Given the description of an element on the screen output the (x, y) to click on. 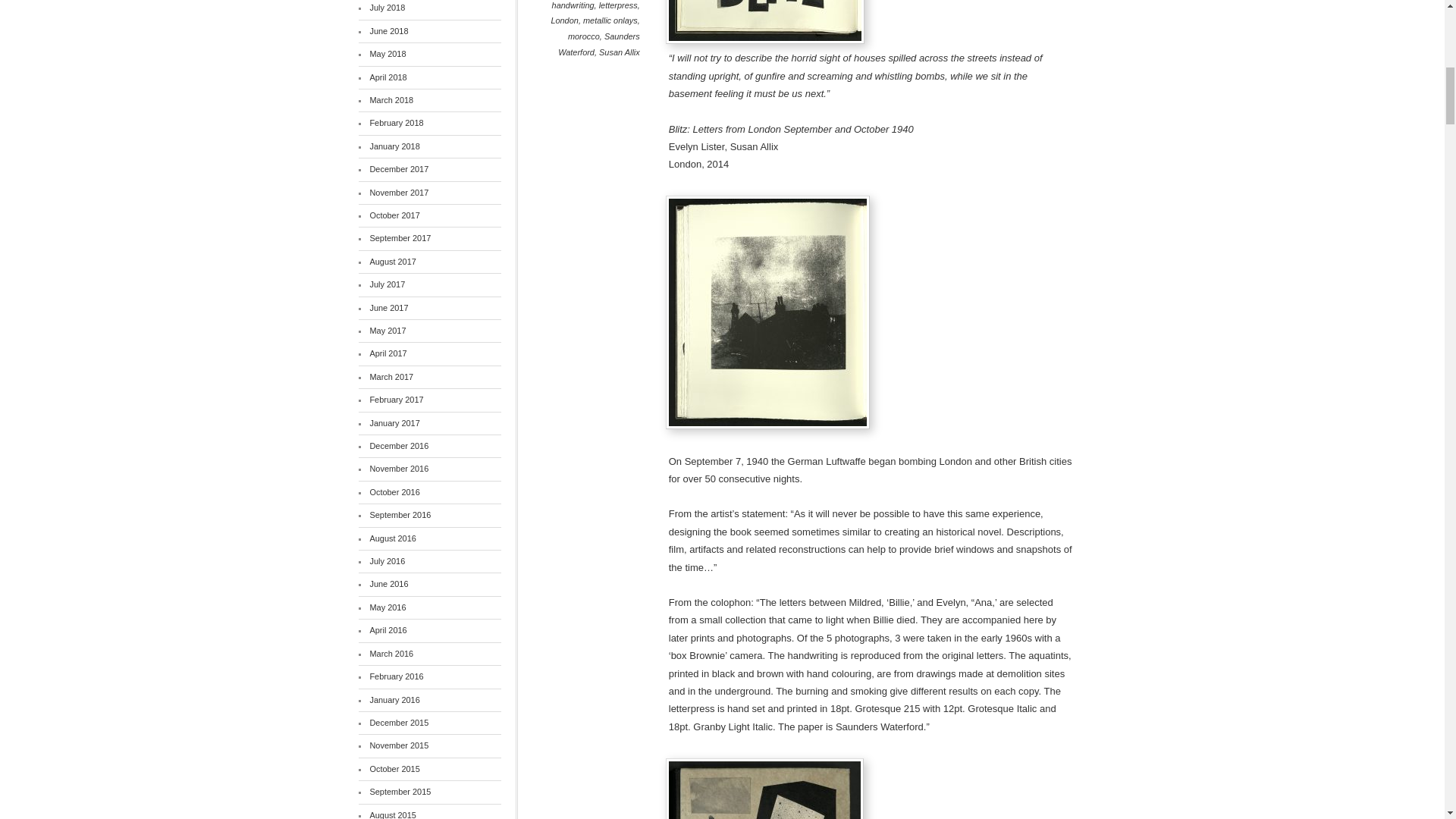
Susan Allix (619, 51)
morocco (583, 35)
letterpress (617, 4)
metallic onlays (610, 20)
London (564, 20)
handwriting (572, 4)
Saunders Waterford (598, 43)
